Given the description of an element on the screen output the (x, y) to click on. 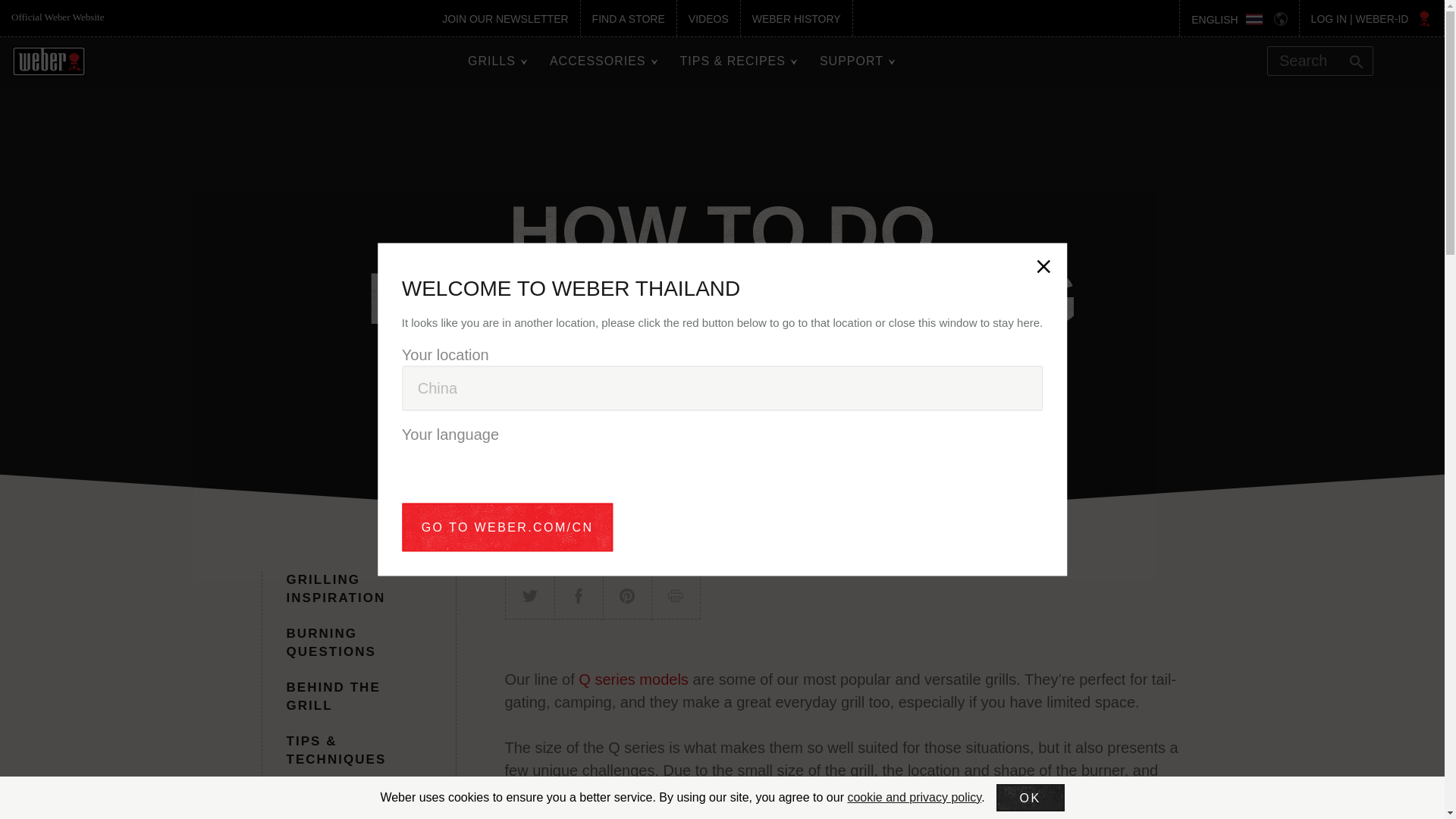
Videos (708, 18)
Change location and language (1286, 18)
China (721, 387)
FIND A STORE (628, 18)
JOIN OUR NEWSLETTER (504, 18)
Change location and language (1225, 18)
Weber History (796, 18)
STORIES FROM ASIA (344, 803)
Newsletter (504, 18)
WEBER HISTORY (796, 18)
Accessories (598, 61)
SUPPORT (851, 61)
ACCESSORIES (598, 61)
GRILLS (491, 61)
BURNING QUESTIONS (330, 642)
